Given the description of an element on the screen output the (x, y) to click on. 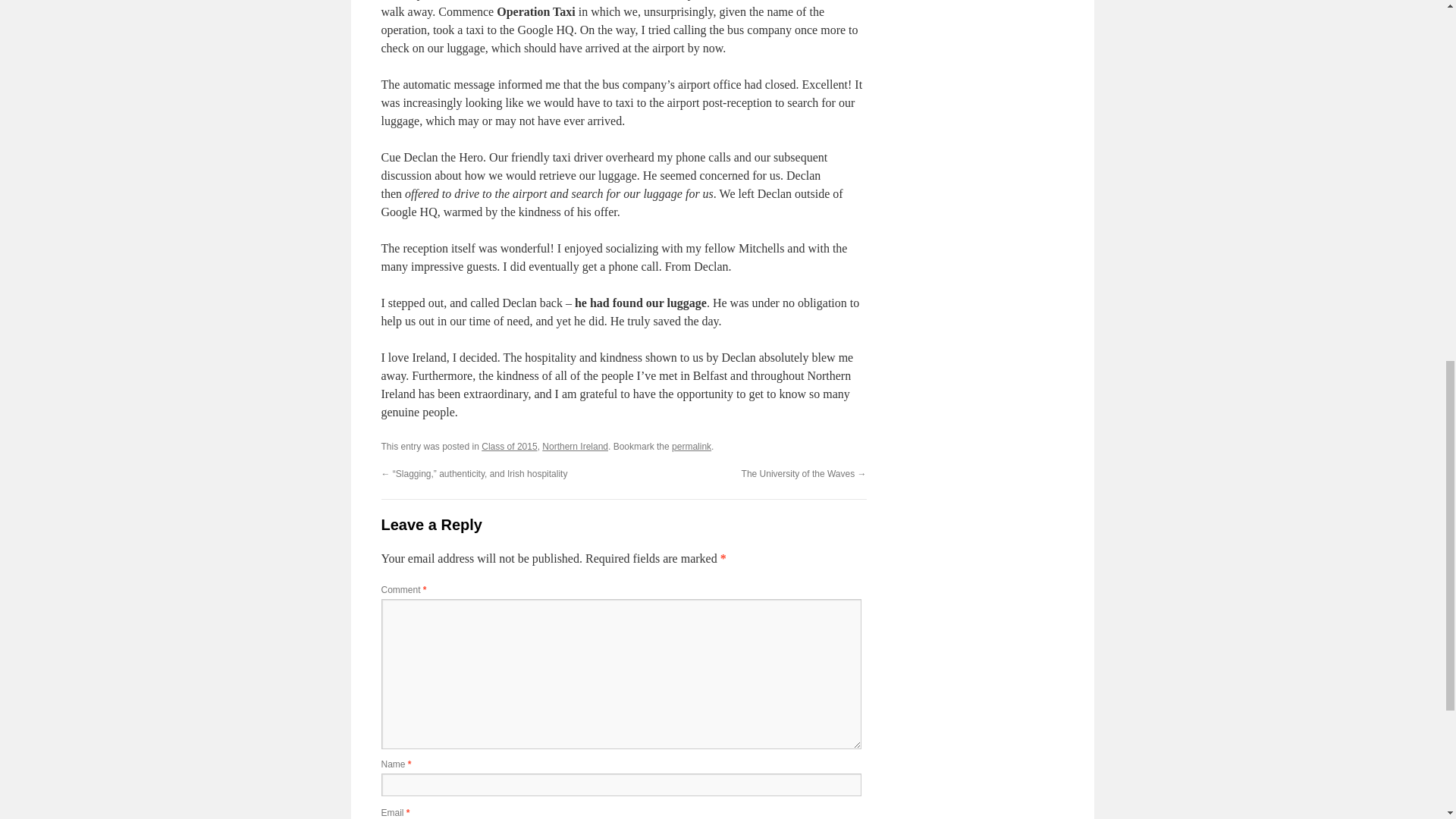
Permalink to The Tale of Declan the Hero (691, 446)
Class of 2015 (509, 446)
Northern Ireland (574, 446)
permalink (691, 446)
